Given the description of an element on the screen output the (x, y) to click on. 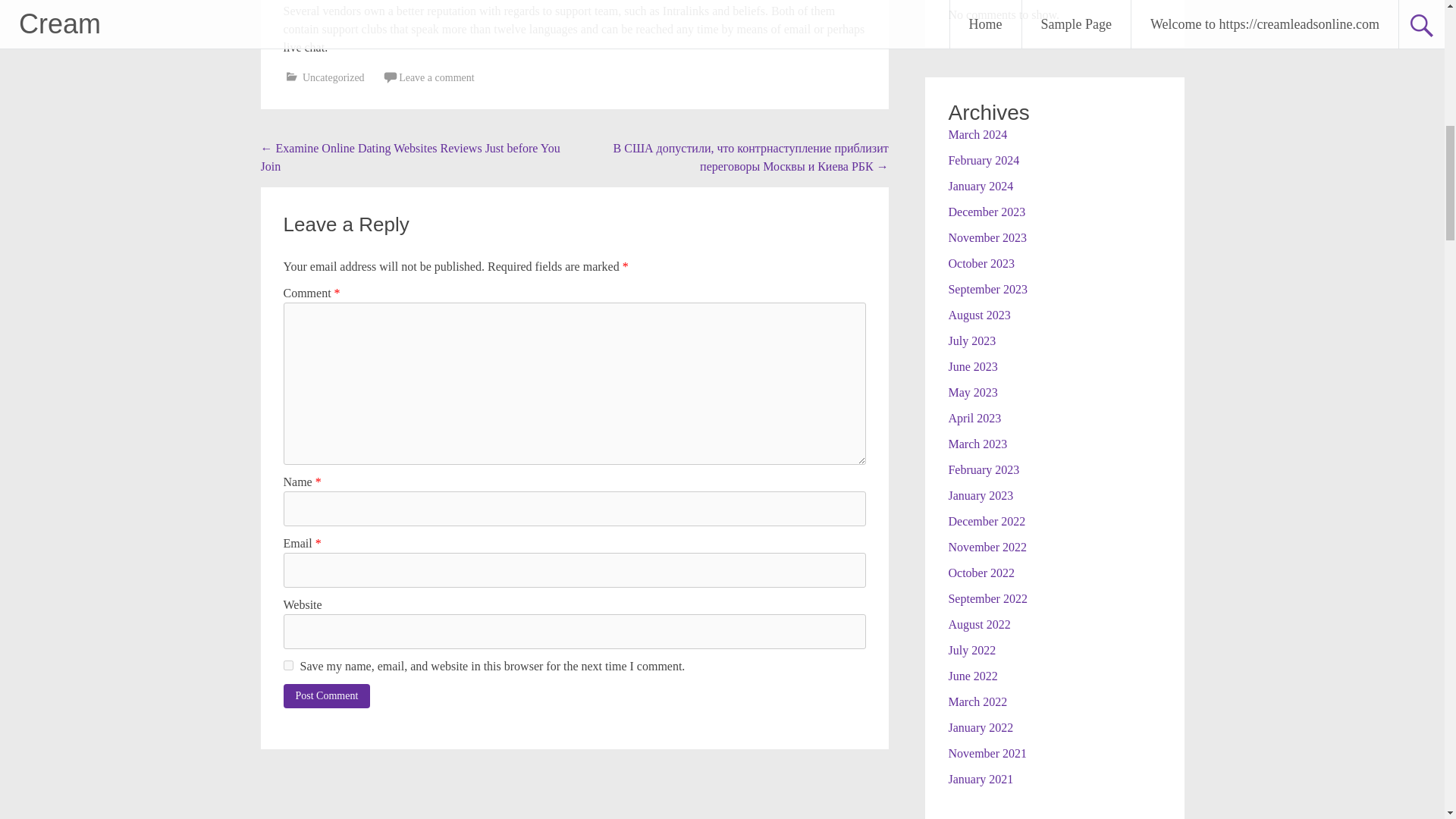
October 2023 (980, 262)
March 2024 (977, 133)
January 2024 (980, 185)
November 2023 (986, 236)
Uncategorized (333, 77)
October 2022 (980, 571)
April 2023 (974, 417)
August 2023 (978, 314)
December 2022 (986, 520)
Leave a comment (436, 77)
December 2023 (986, 210)
Post Comment (327, 695)
November 2022 (986, 545)
Post Comment (327, 695)
July 2023 (971, 339)
